Given the description of an element on the screen output the (x, y) to click on. 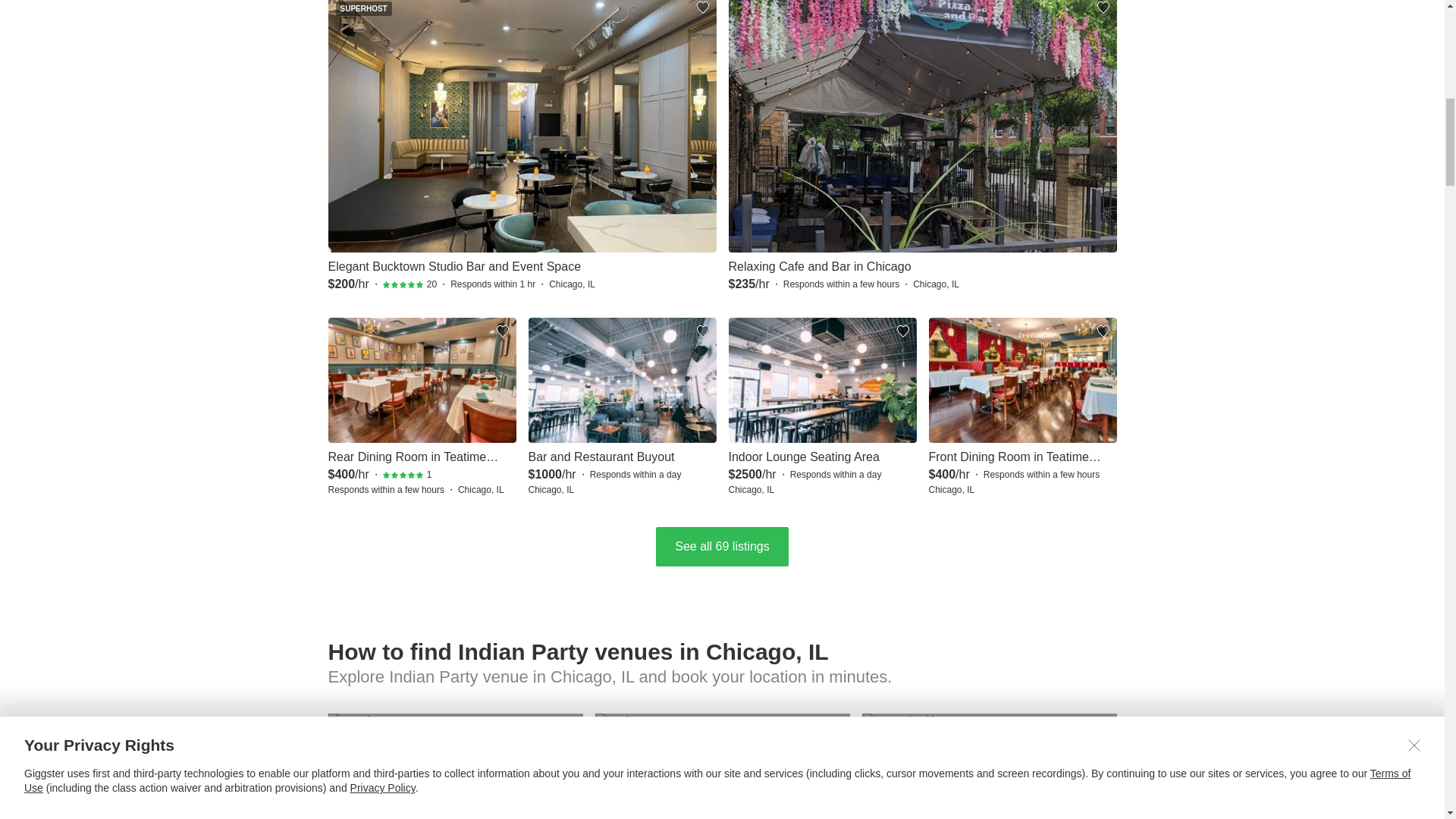
5 (402, 474)
Connect with hosts and lockdown the details (721, 766)
Elevate your next project or event with a unique venue (988, 766)
5 (402, 284)
